Given the description of an element on the screen output the (x, y) to click on. 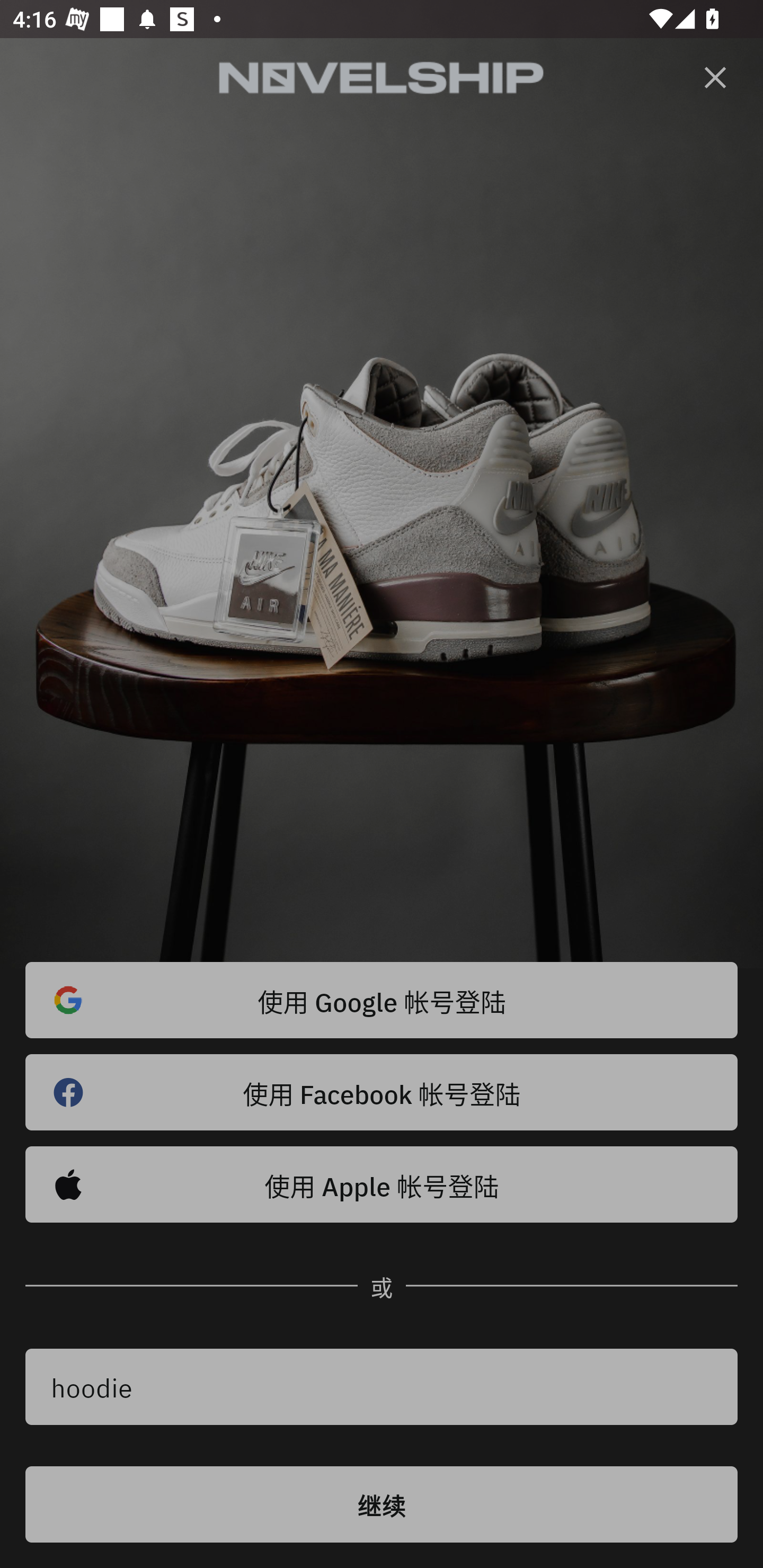
使用 Google 帐号登陆 (381, 1000)
使用 Facebook 帐号登陆 󰈌 (381, 1091)
 使用 Apple 帐号登陆 (381, 1184)
hoodie (381, 1386)
继续 (381, 1504)
